Given the description of an element on the screen output the (x, y) to click on. 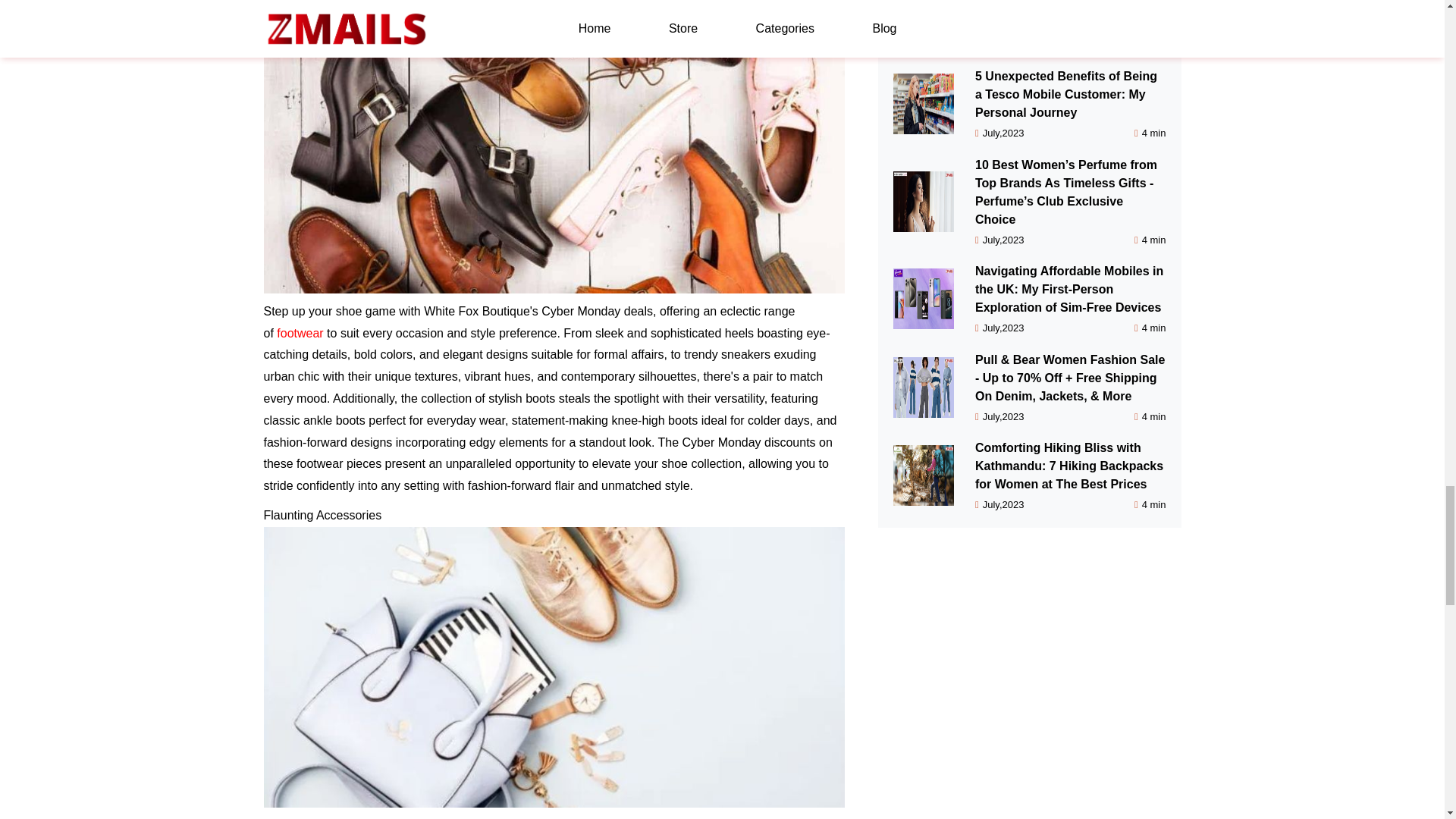
footwear (299, 332)
